Given the description of an element on the screen output the (x, y) to click on. 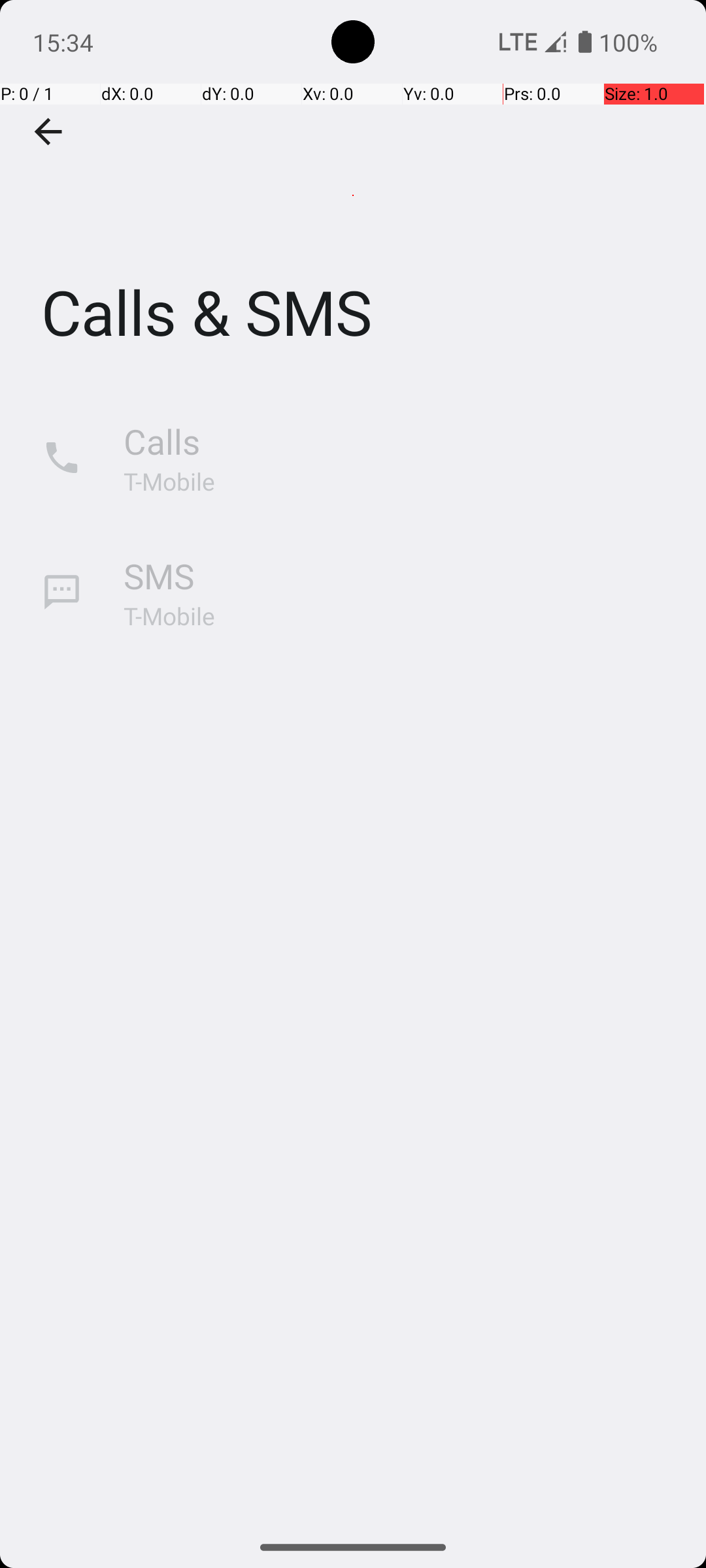
Calls & SMS Element type: android.widget.FrameLayout (353, 195)
Calls Element type: android.widget.TextView (161, 441)
